Given the description of an element on the screen output the (x, y) to click on. 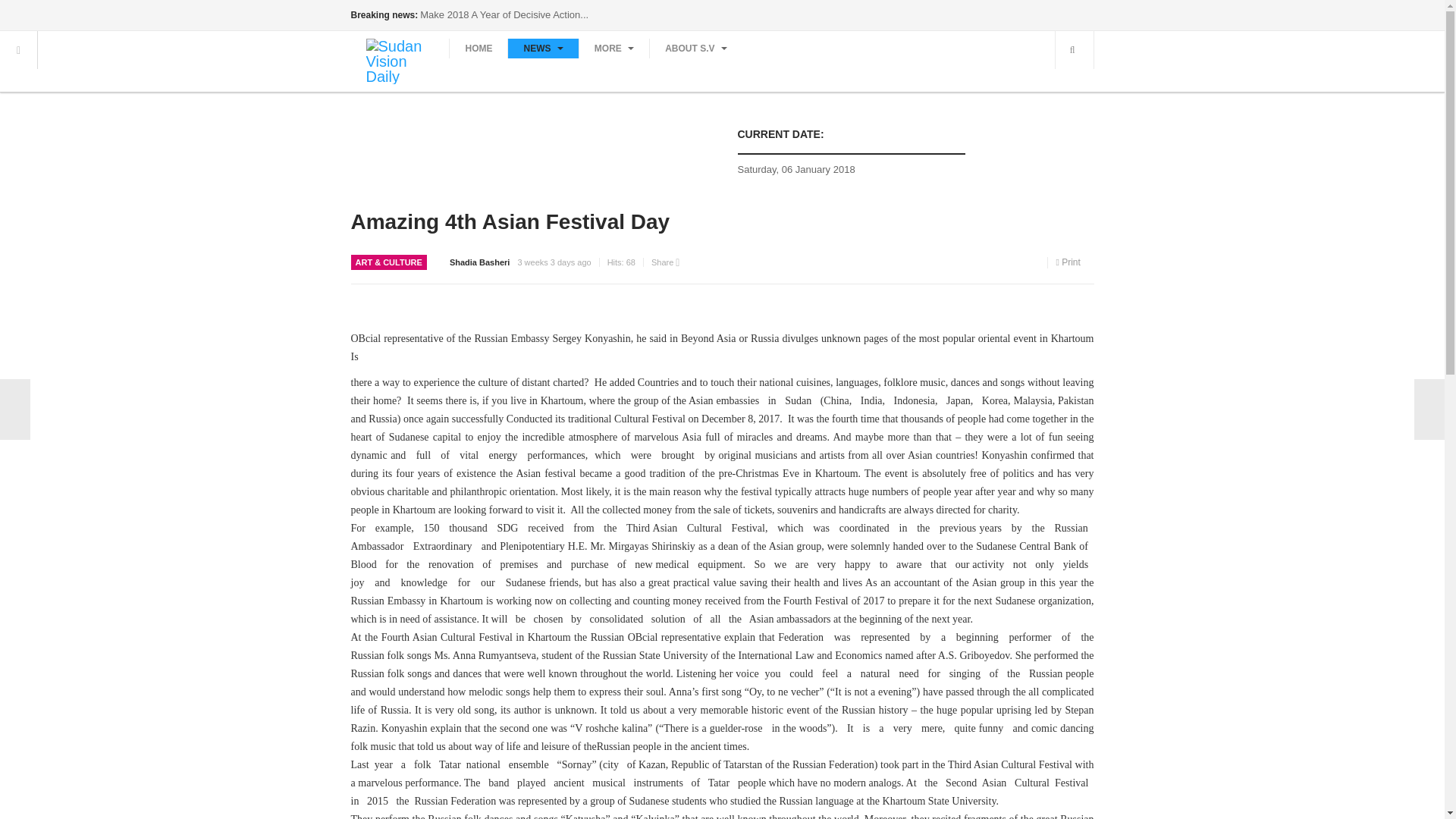
Make 2018 A Year of Decisive Action... (504, 14)
Amazing 4th Asian Festival Day (509, 221)
Shadia Basheri (479, 261)
Sudan Vision Daily (399, 61)
ABOUT S.V (695, 48)
HOME (477, 48)
NEWS (542, 48)
MORE (613, 48)
Share (665, 262)
